Given the description of an element on the screen output the (x, y) to click on. 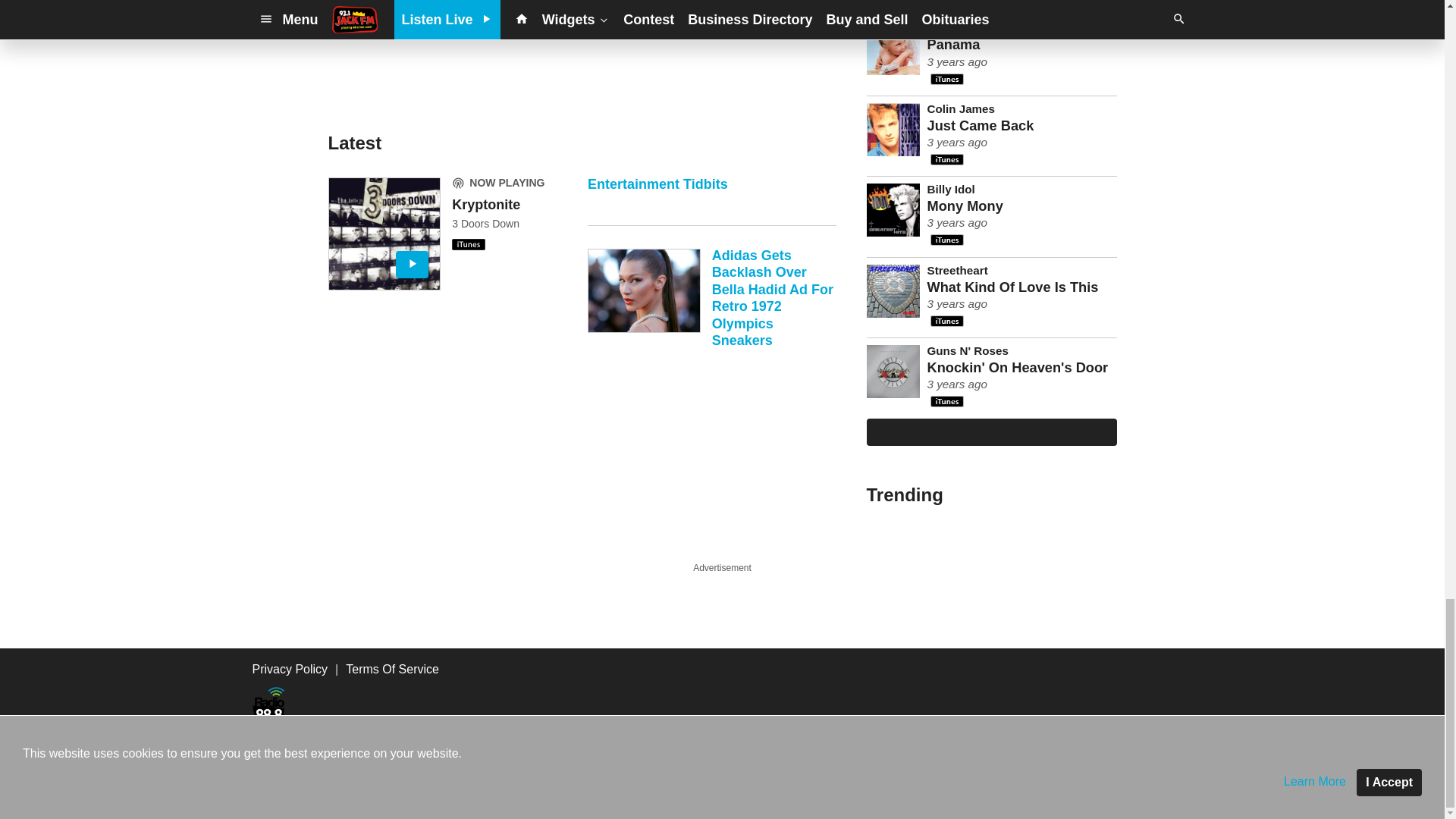
Powered By SoCast (333, 797)
Listen Live (384, 233)
Entertainment Tidbits (711, 201)
